Given the description of an element on the screen output the (x, y) to click on. 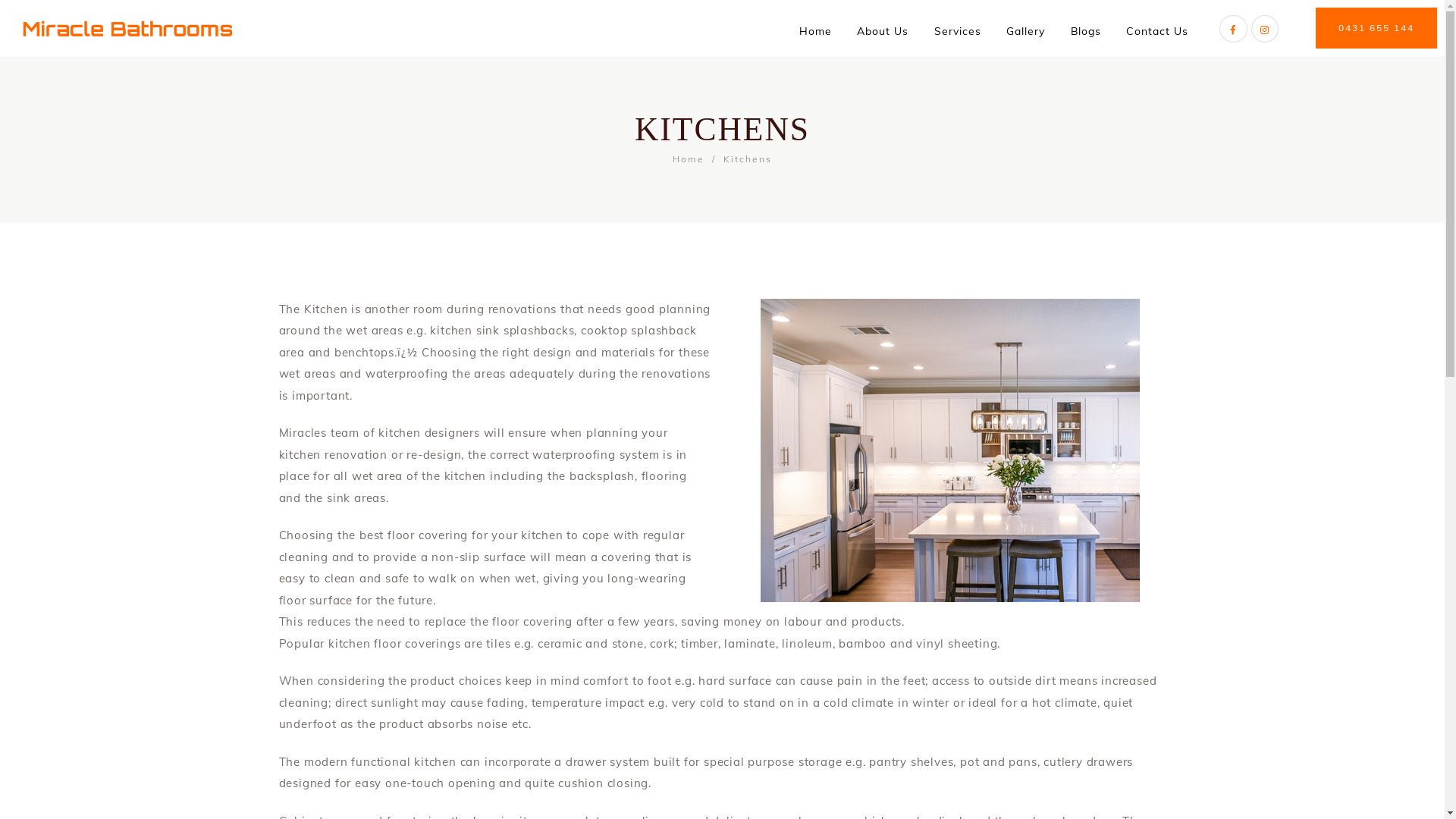
0431 655 144 Element type: text (1376, 27)
Blogs Element type: text (1085, 30)
Services Element type: text (957, 30)
0431 655 144 Element type: text (1376, 27)
Home Element type: text (815, 30)
About Us Element type: text (882, 30)
Home Element type: text (688, 158)
Gallery Element type: text (1025, 30)
white-wooden-cupboards-2724749 Element type: hover (949, 450)
Contact Us Element type: text (1157, 30)
